Given the description of an element on the screen output the (x, y) to click on. 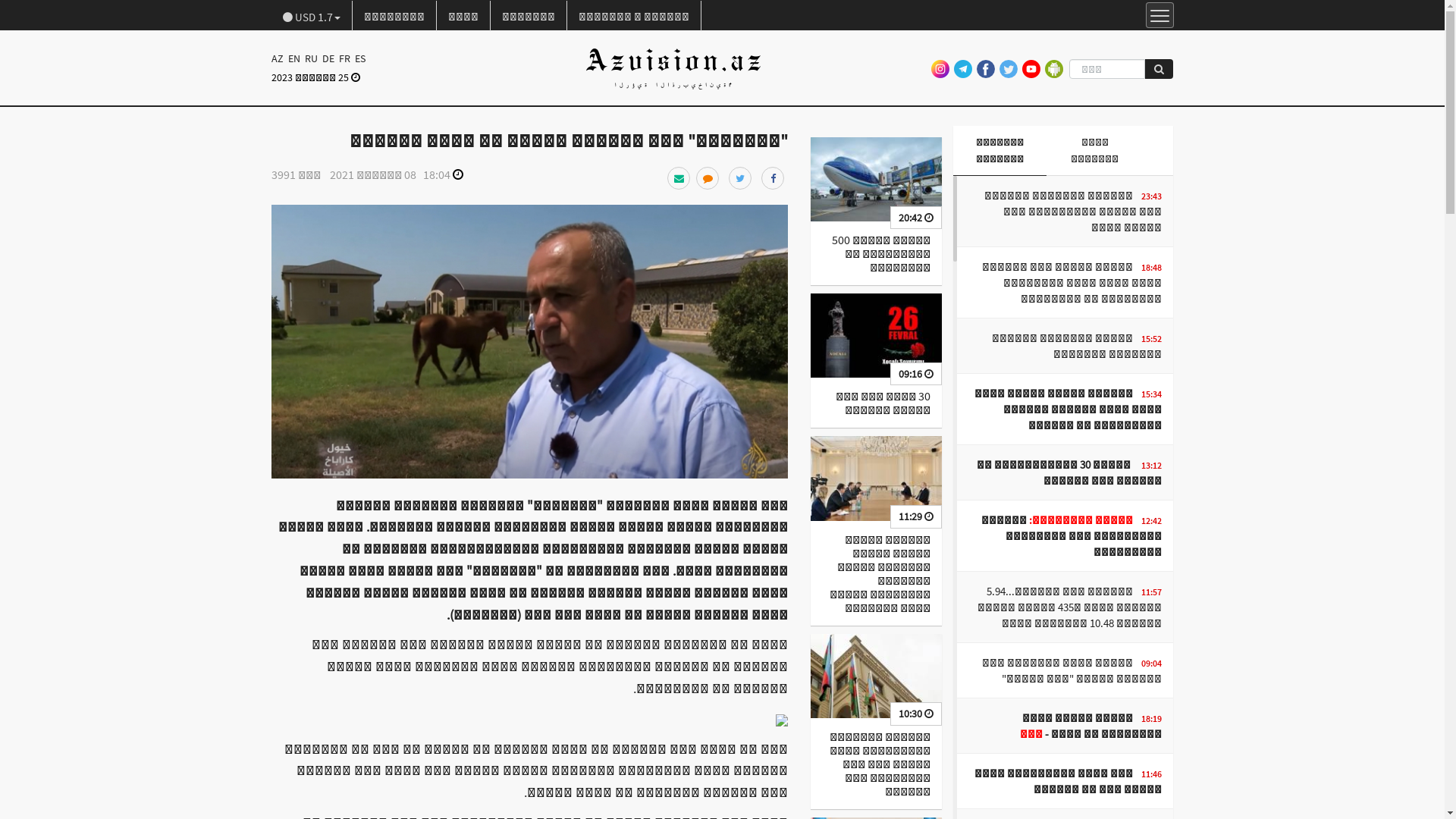
DE Element type: text (328, 58)
USD 1.7 Element type: text (311, 15)
RU Element type: text (310, 58)
ES Element type: text (359, 58)
FR Element type: text (344, 58)
AZ Element type: text (278, 58)
EN Element type: text (293, 58)
